Given the description of an element on the screen output the (x, y) to click on. 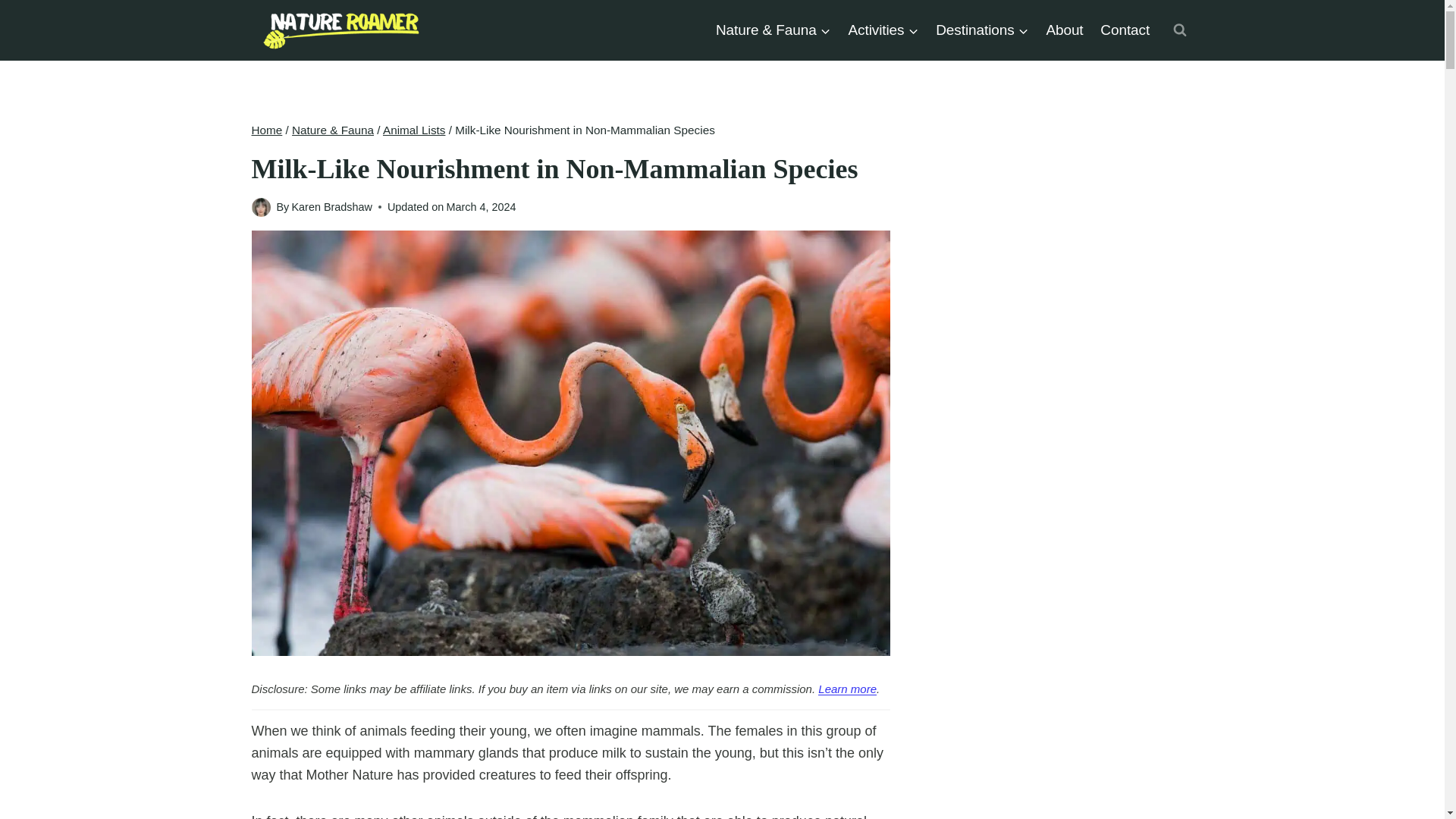
Learn more (847, 688)
Animal Lists (413, 129)
Karen Bradshaw (331, 206)
Home (266, 129)
Contact (1125, 29)
About (1064, 29)
Destinations (981, 29)
Activities (883, 29)
